Given the description of an element on the screen output the (x, y) to click on. 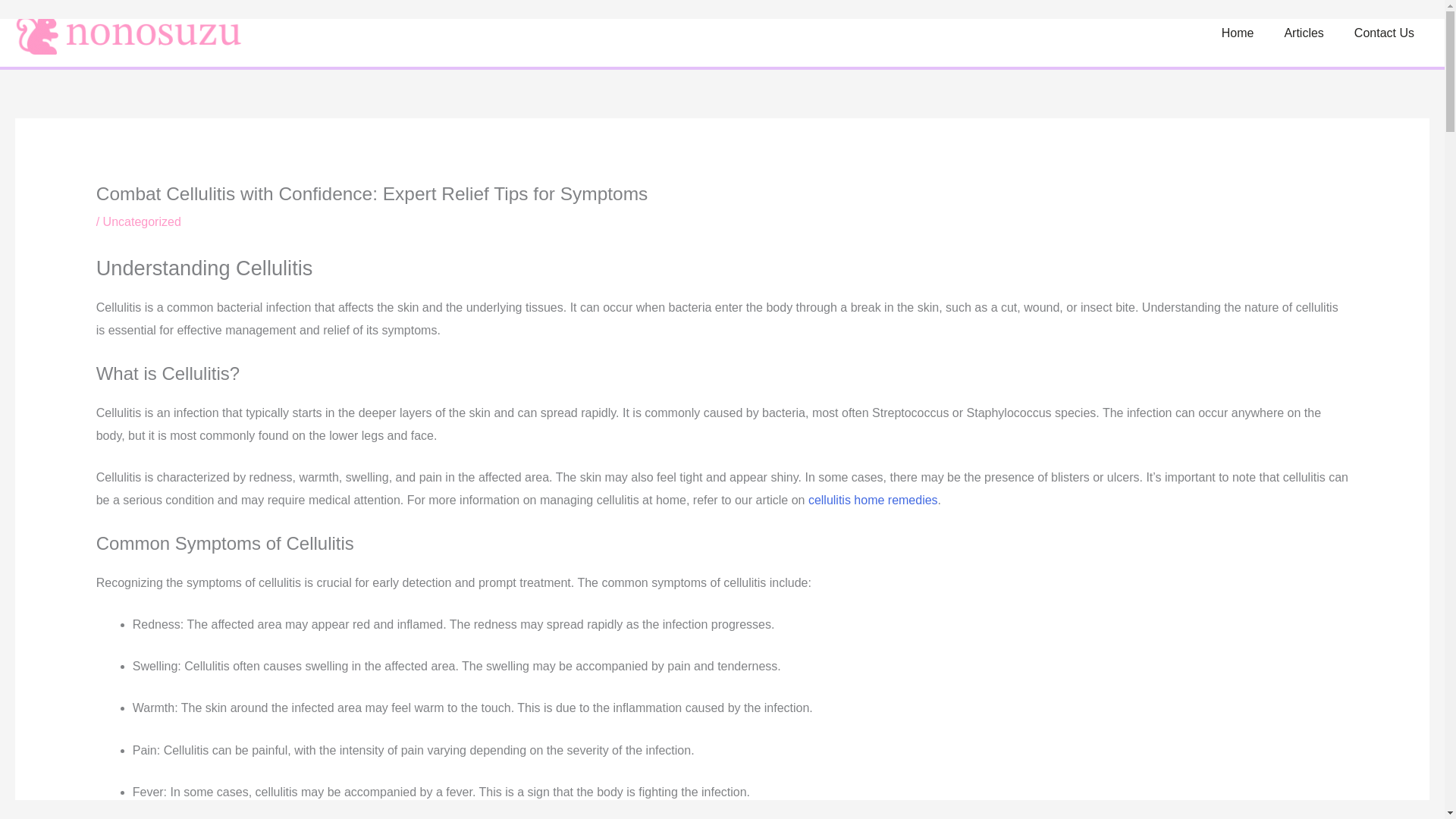
cellulitis home remedies (872, 499)
Home (1238, 33)
Contact Us (1384, 33)
Articles (1303, 33)
Uncategorized (141, 221)
